Given the description of an element on the screen output the (x, y) to click on. 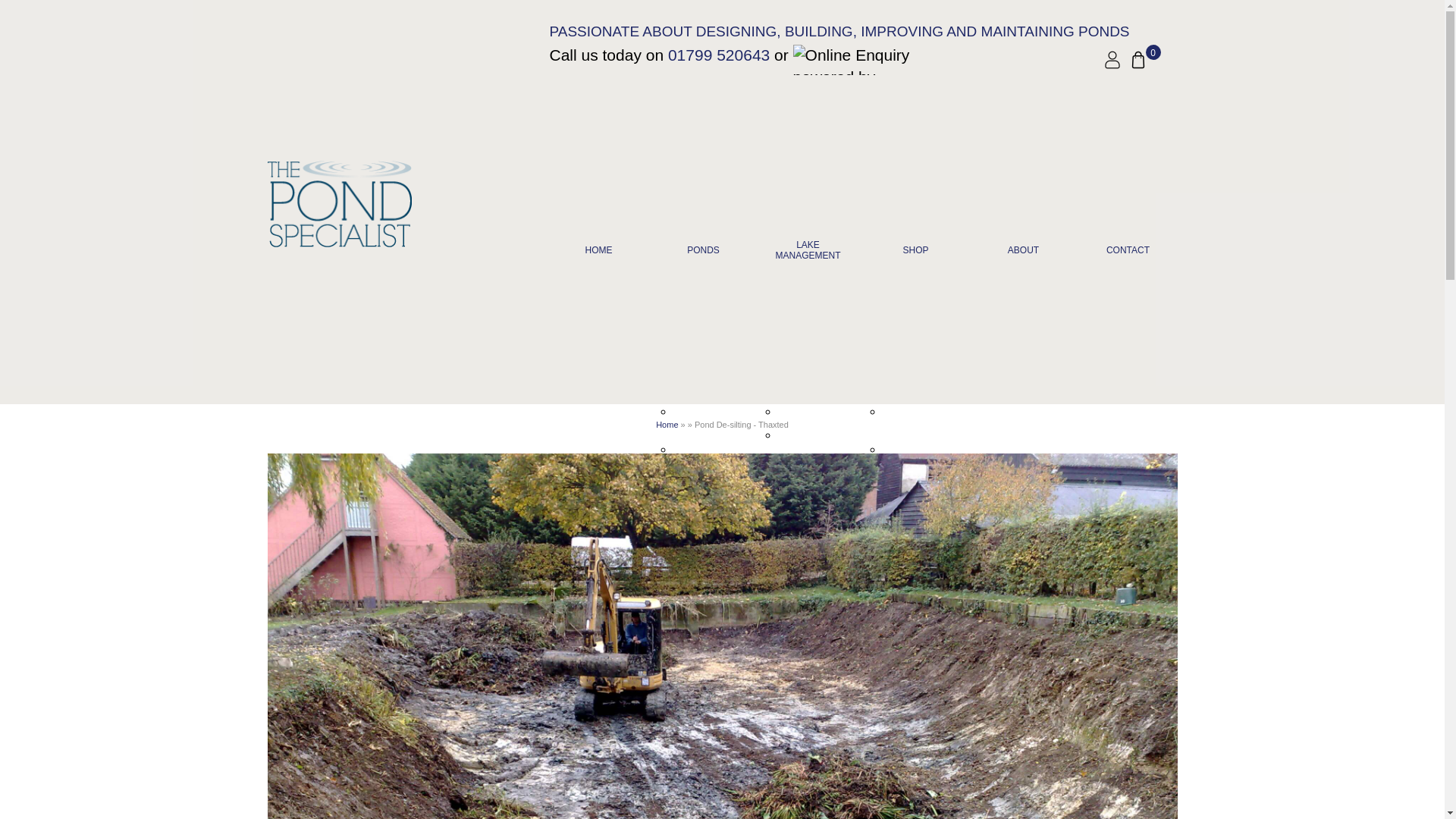
ECO-PONDS (705, 473)
KOI PONDS (702, 412)
SWIM PONDS (707, 497)
0 (1137, 58)
WATER FEATURES (712, 656)
The Pond Specialist (392, 213)
01799 520643 (719, 54)
ORNAMENTAL PONDS (712, 442)
POND MAINTENANCE (712, 565)
